Given the description of an element on the screen output the (x, y) to click on. 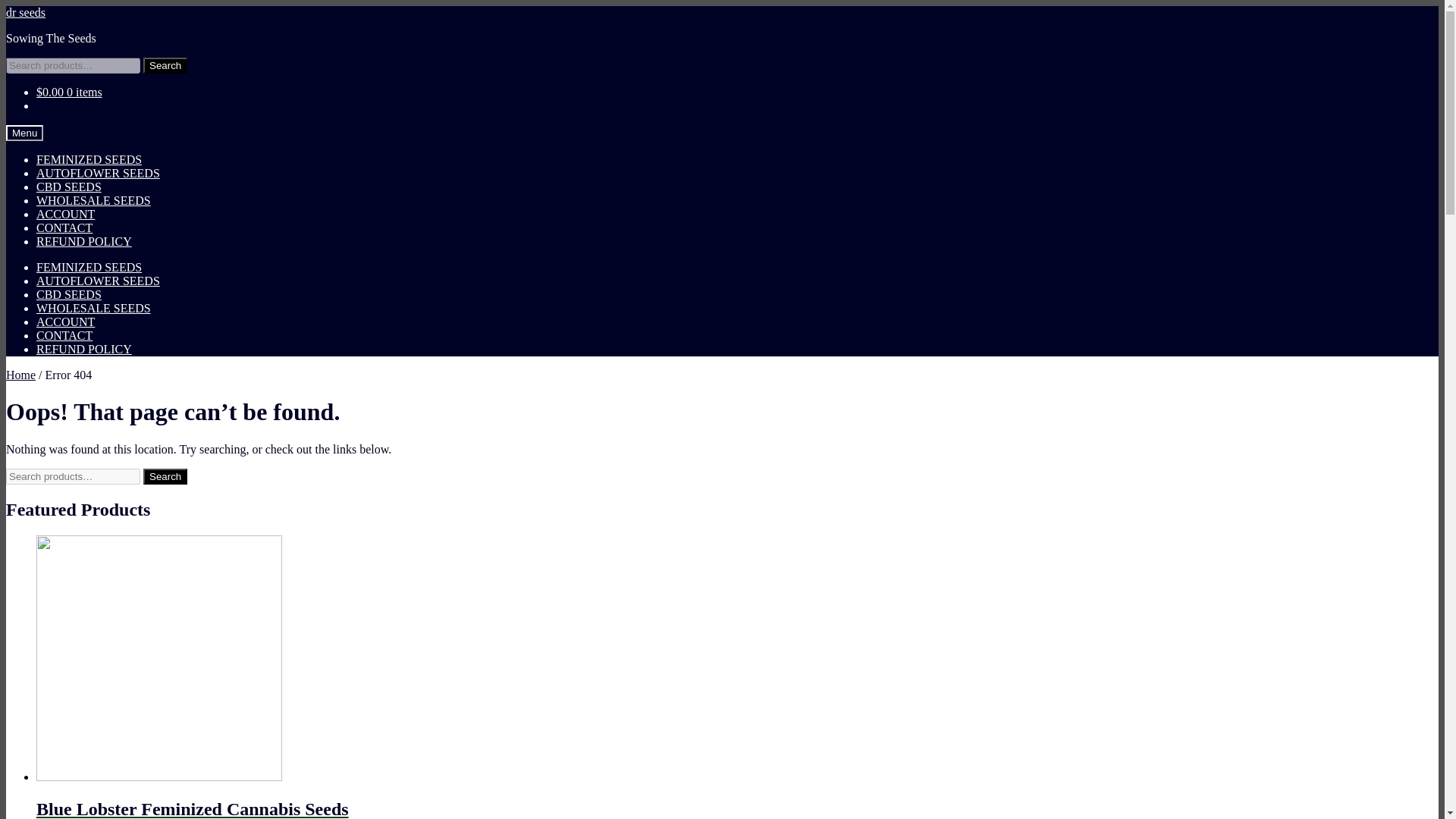
Menu (24, 132)
FEMINIZED SEEDS (88, 267)
Search (164, 65)
CBD SEEDS (68, 294)
REFUND POLICY (84, 349)
WHOLESALE SEEDS (93, 200)
WHOLESALE SEEDS (93, 308)
AUTOFLOWER SEEDS (98, 173)
REFUND POLICY (84, 241)
ACCOUNT (65, 214)
dr seeds (25, 11)
CBD SEEDS (68, 186)
View your shopping cart (68, 91)
FEMINIZED SEEDS (88, 159)
Home (19, 374)
